Given the description of an element on the screen output the (x, y) to click on. 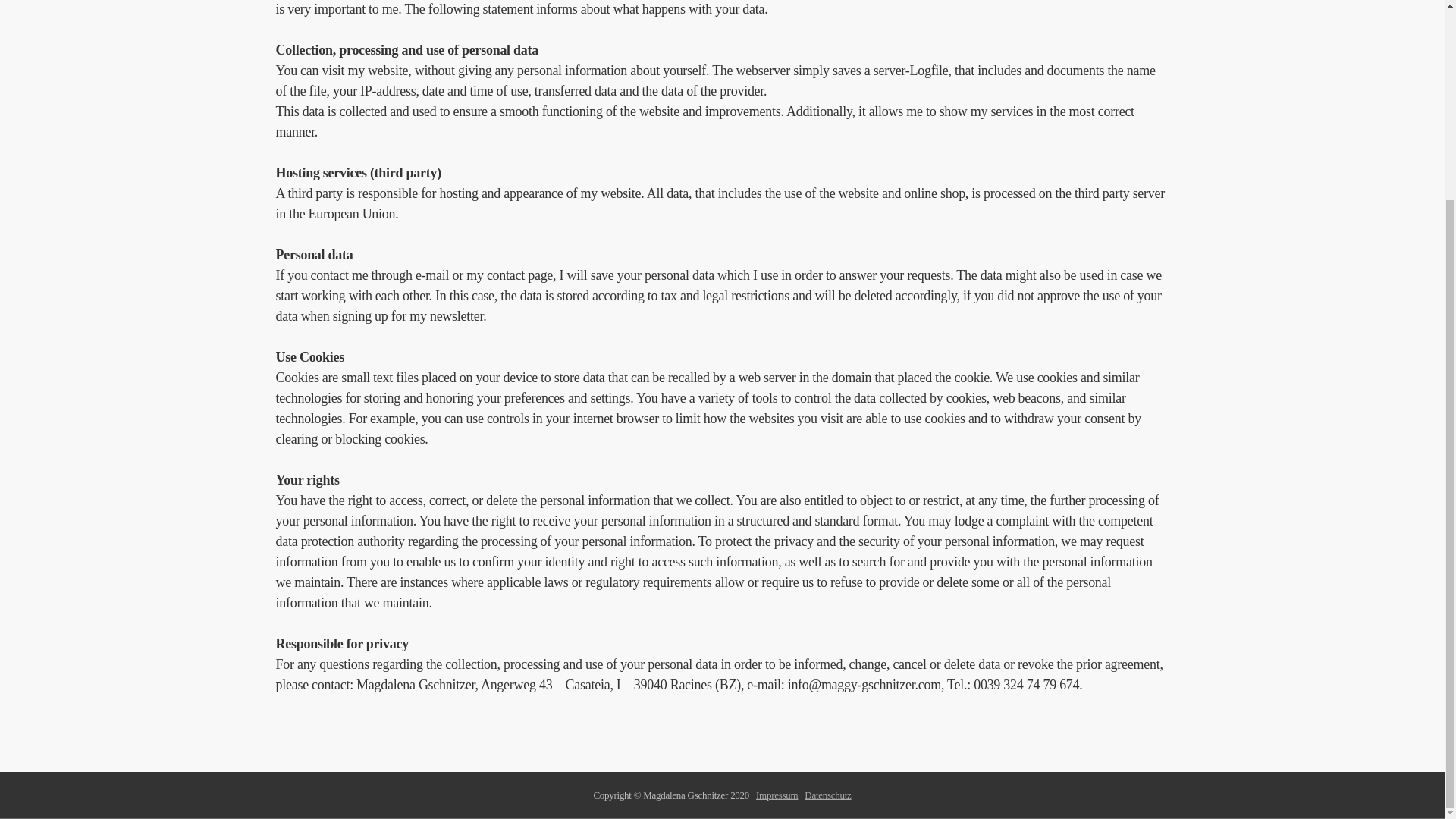
Datenschutz (827, 794)
Impressum (776, 794)
